Given the description of an element on the screen output the (x, y) to click on. 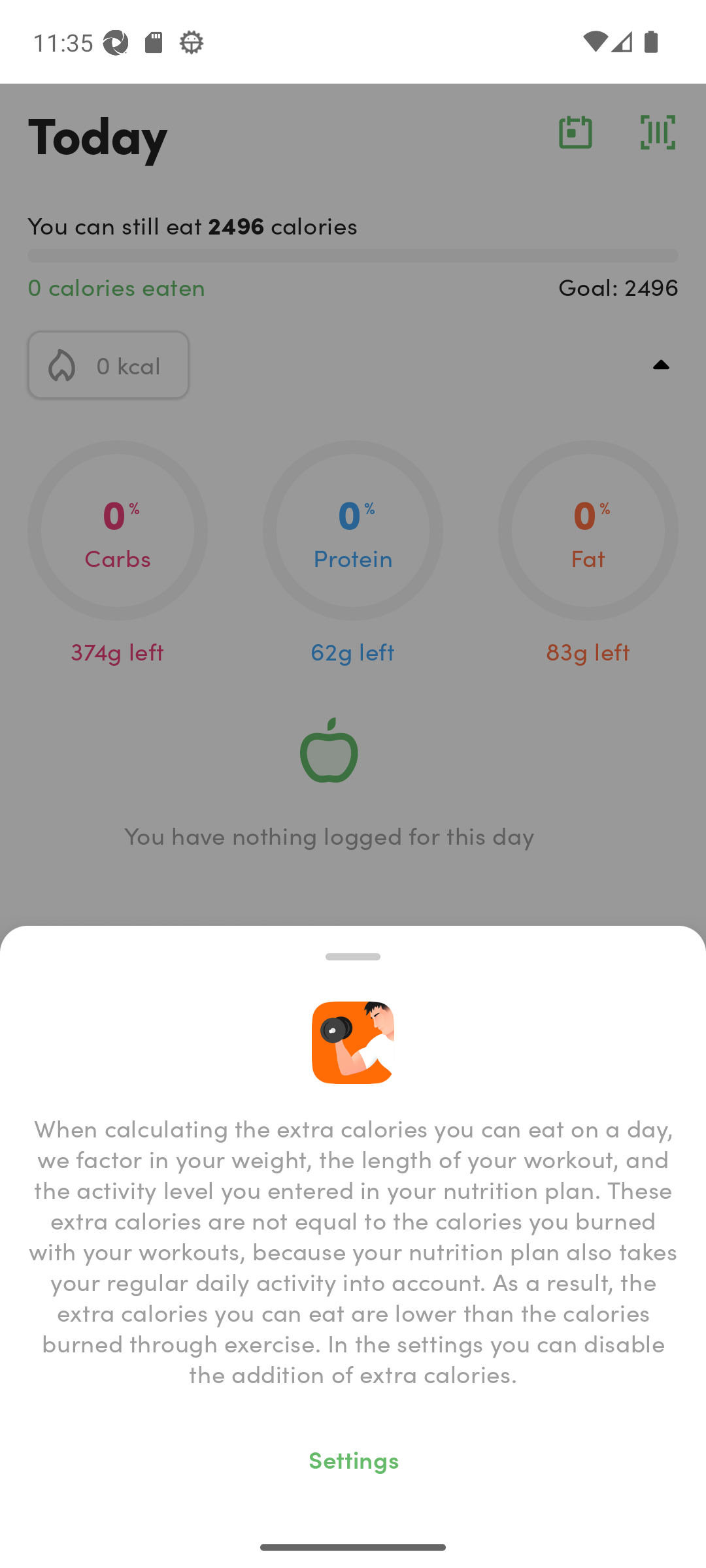
Settings (353, 1458)
